Given the description of an element on the screen output the (x, y) to click on. 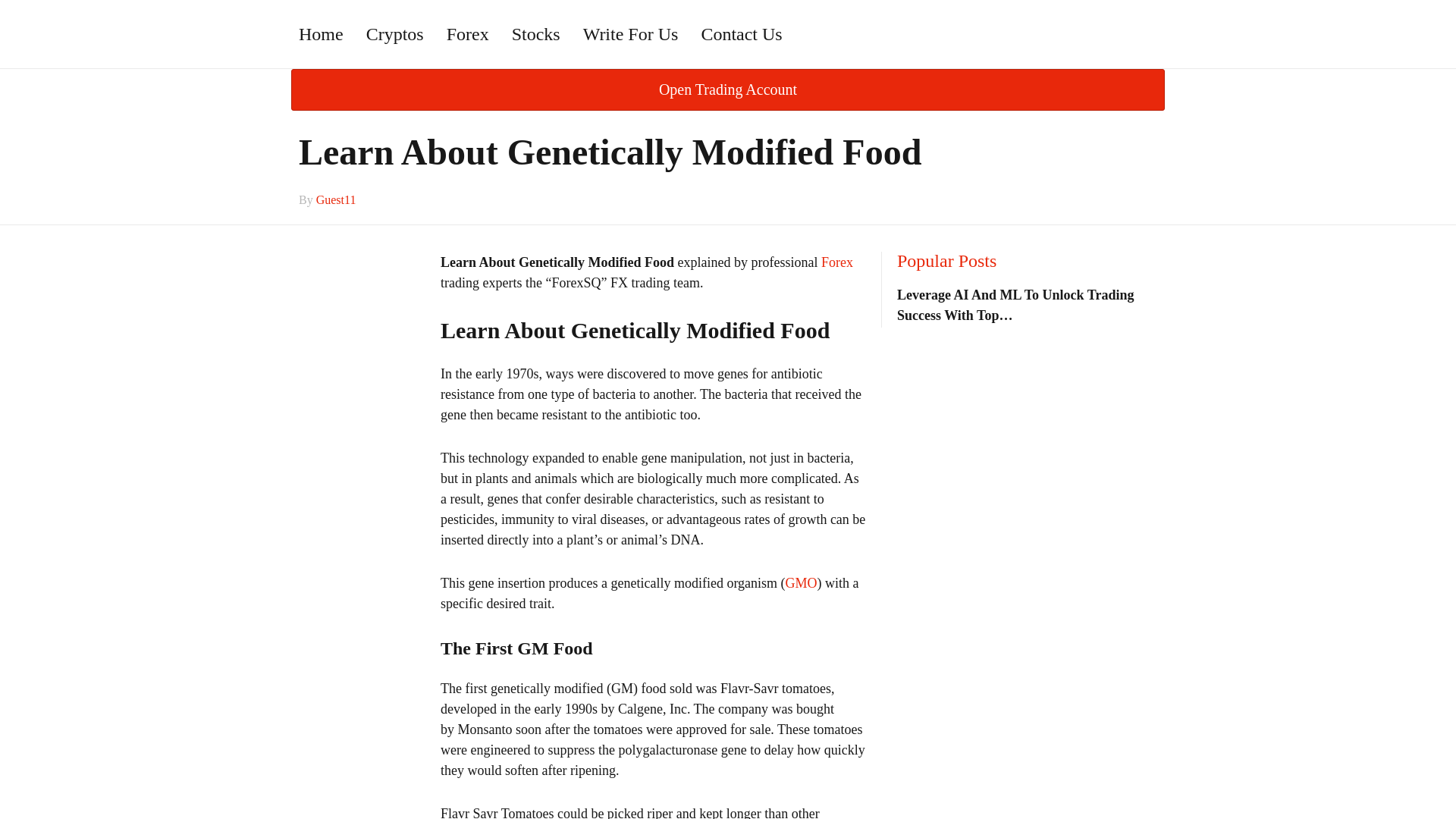
Contact Us (740, 33)
Forex (467, 33)
Open Trading Account (727, 89)
Write For Us (631, 33)
Guest11 (335, 199)
Posts by Guest11 (335, 199)
GMO (801, 582)
Stocks (536, 33)
Cryptos (395, 33)
Forex (837, 262)
